Given the description of an element on the screen output the (x, y) to click on. 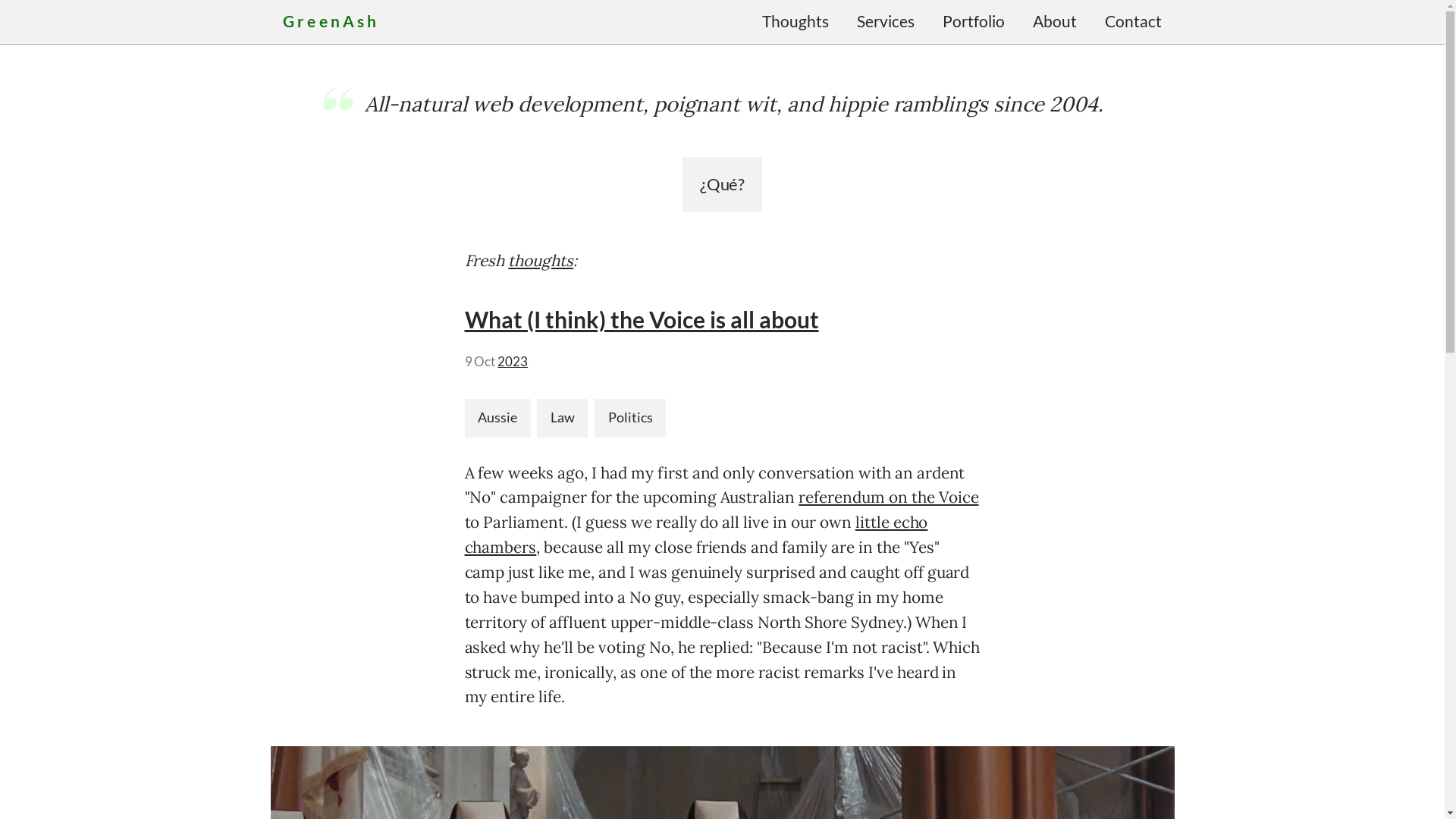
Contact Element type: text (1132, 21)
About Element type: text (1053, 21)
thoughts Element type: text (540, 260)
2023 Element type: text (512, 361)
referendum on the Voice Element type: text (888, 496)
GreenAsh Element type: text (330, 21)
Thoughts Element type: text (794, 21)
Services Element type: text (885, 21)
Aussie Element type: text (497, 417)
Portfolio Element type: text (972, 21)
little echo chambers Element type: text (695, 534)
Politics Element type: text (629, 417)
What (I think) the Voice is all about Element type: text (641, 318)
Law Element type: text (561, 417)
